Given the description of an element on the screen output the (x, y) to click on. 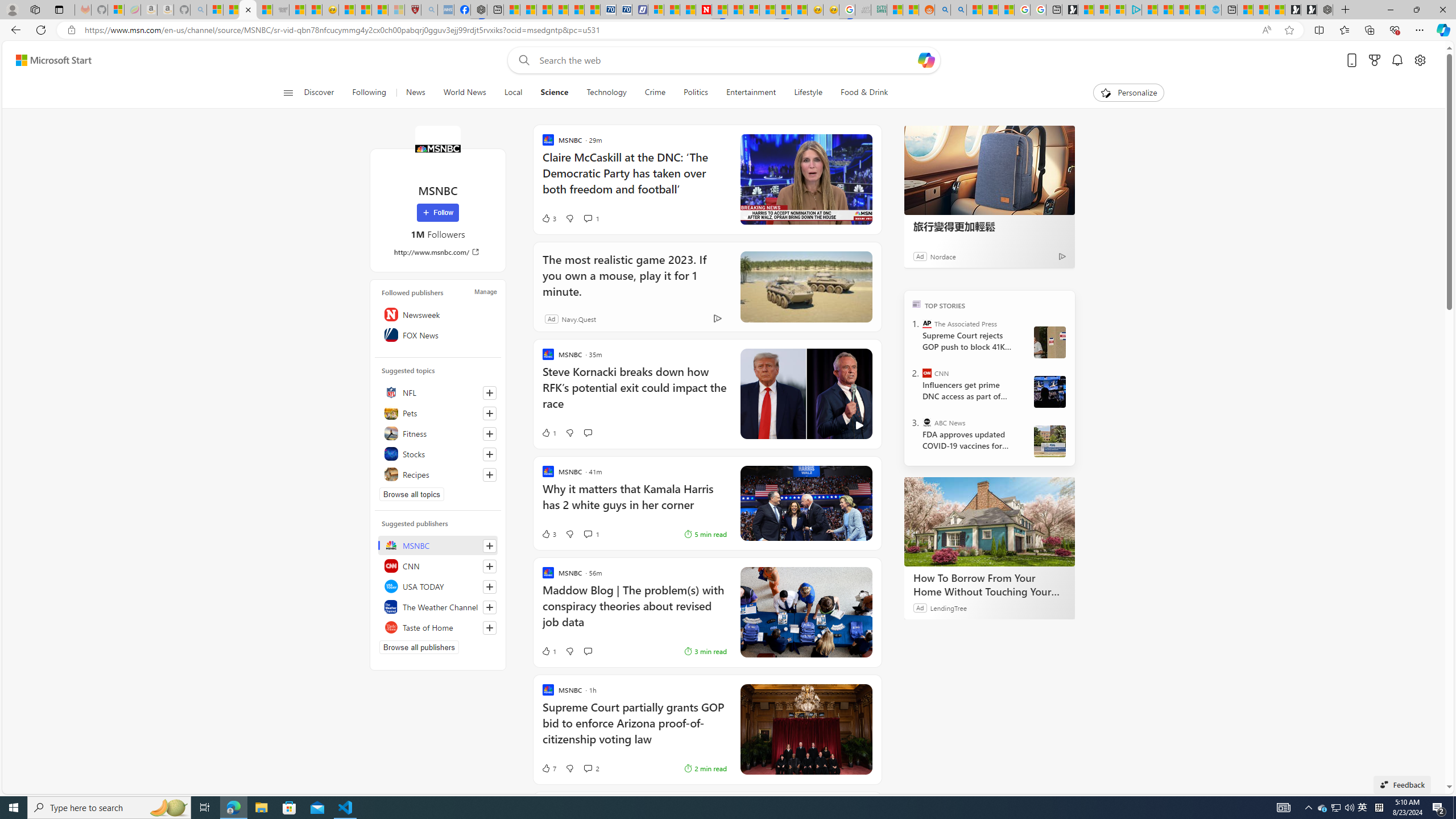
MSNBC (437, 545)
Technology (606, 92)
TOP (916, 302)
Browse all topics (412, 494)
